Given the description of an element on the screen output the (x, y) to click on. 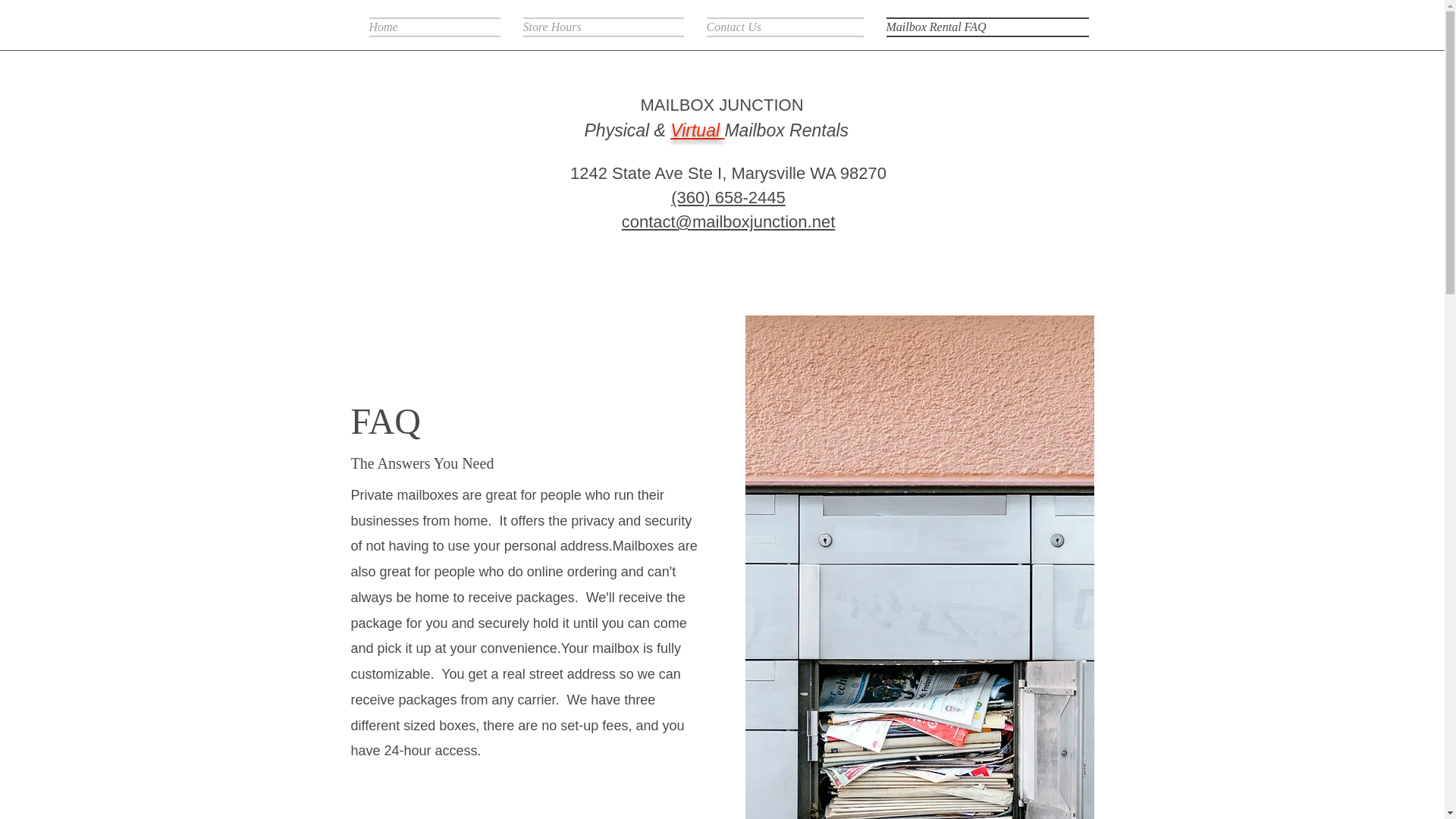
Physical (616, 130)
Store Hours (602, 25)
Mailbox Rentals (785, 130)
Home (439, 25)
Mailbox Rental FAQ (982, 25)
Virtual (696, 130)
MAILBOX JUNCTION (721, 104)
Contact Us (784, 25)
